Given the description of an element on the screen output the (x, y) to click on. 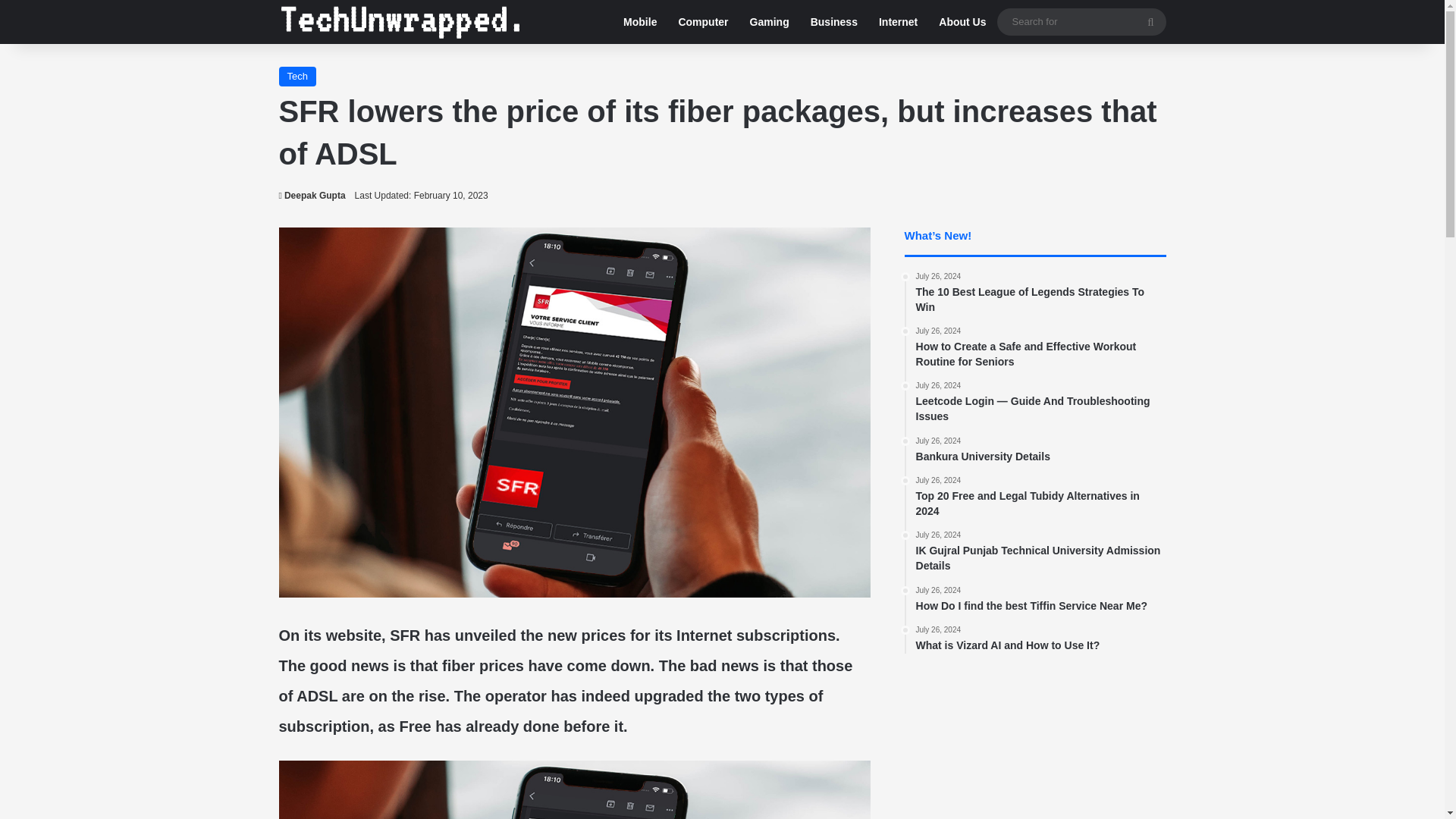
Gaming (769, 22)
Search for (1150, 22)
Internet (897, 22)
Deepak Gupta (312, 195)
About Us (961, 22)
TechUnwrapped (400, 22)
Computer (702, 22)
Business (833, 22)
Tech (1040, 450)
